Given the description of an element on the screen output the (x, y) to click on. 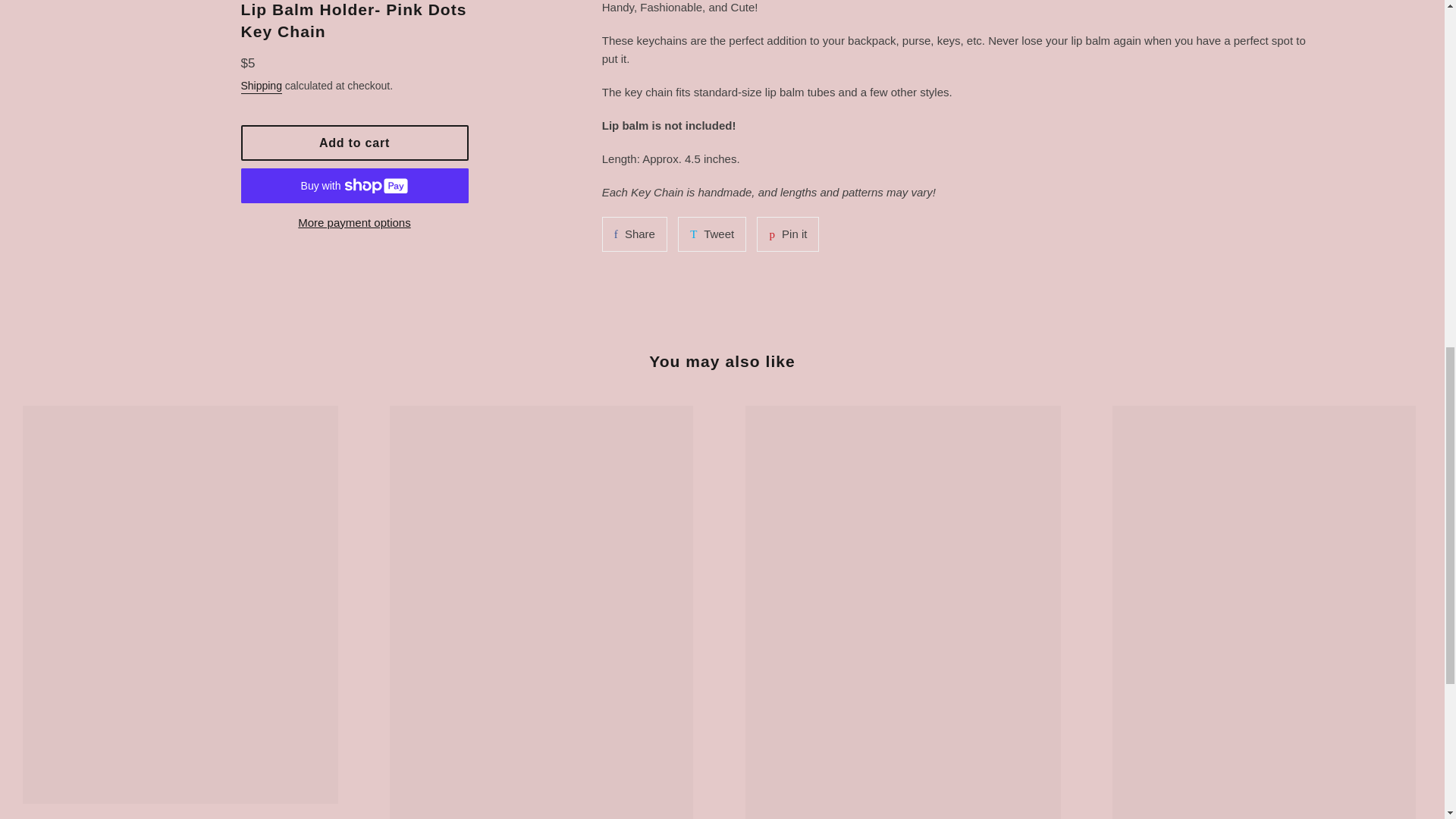
Share on Facebook (634, 234)
Tweet on Twitter (711, 234)
Shipping (261, 86)
Add to cart (787, 234)
More payment options (711, 234)
Pin on Pinterest (354, 142)
